Given the description of an element on the screen output the (x, y) to click on. 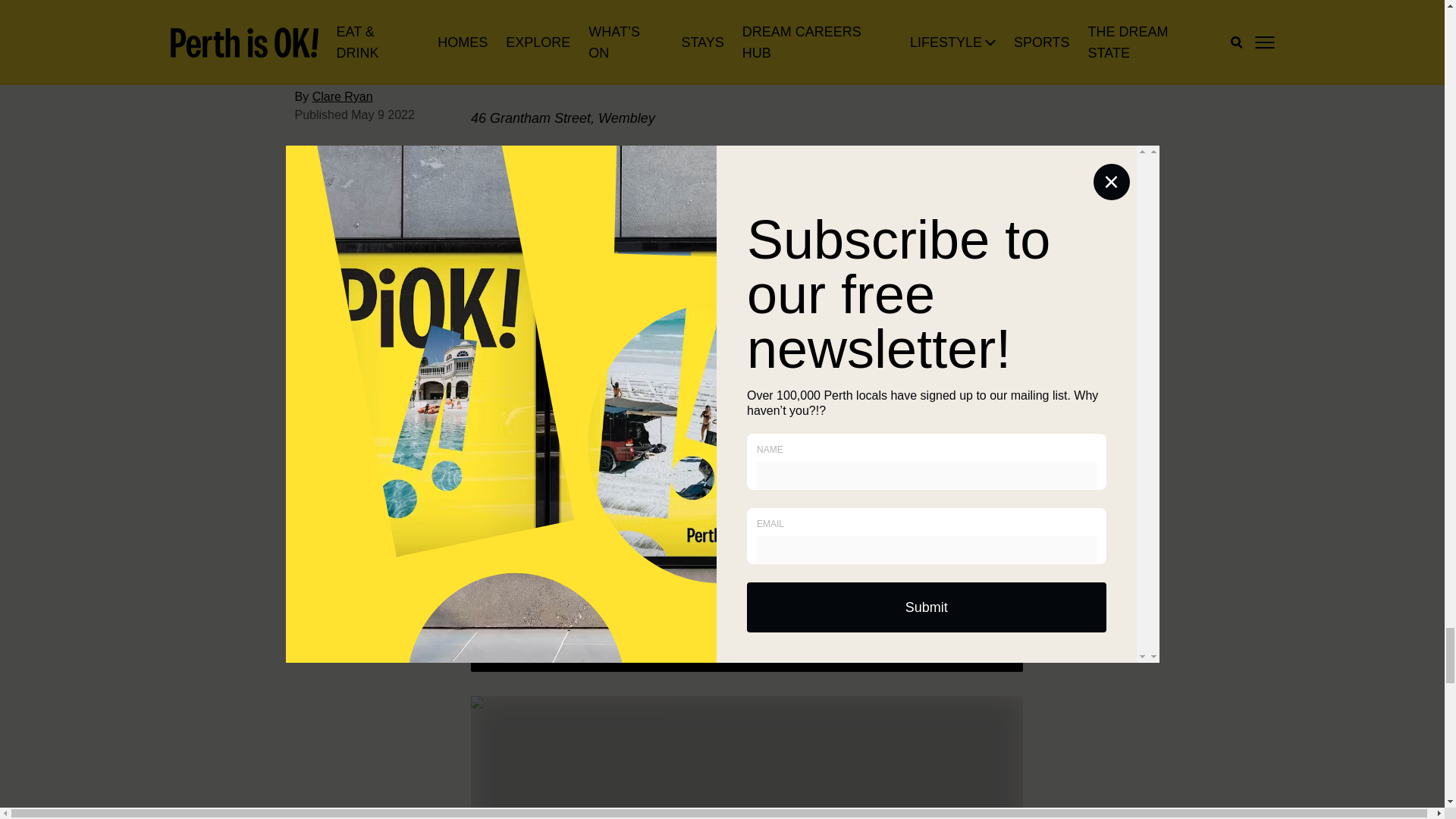
Subscribe now! (955, 623)
